Given the description of an element on the screen output the (x, y) to click on. 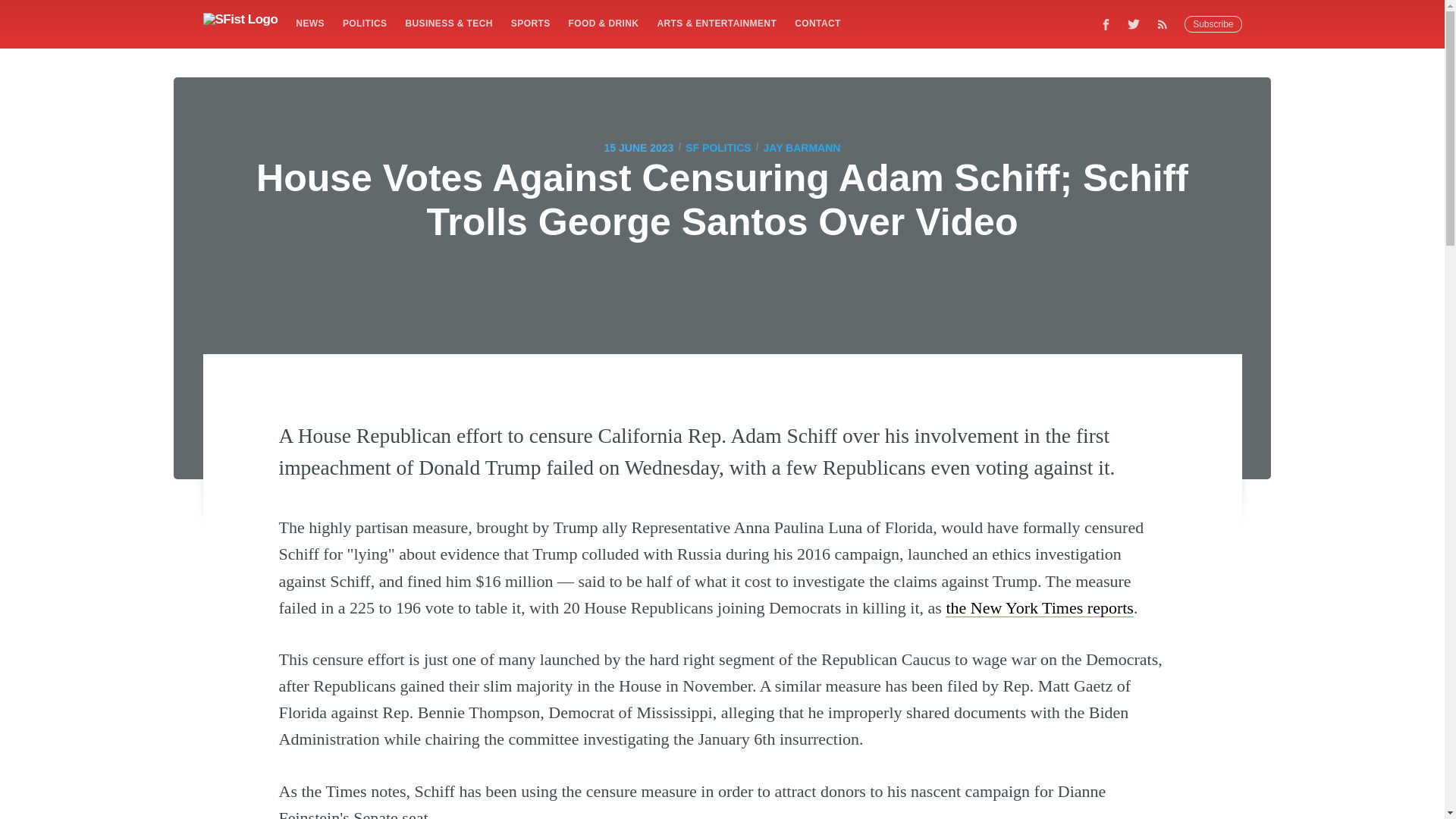
the New York Times reports (1039, 607)
SPORTS (530, 23)
RSS (1166, 23)
Subscribe (1213, 23)
NEWS (309, 23)
SF POLITICS (718, 147)
CONTACT (818, 23)
Twitter (1133, 23)
JAY BARMANN (801, 147)
Facebook (1106, 23)
